Given the description of an element on the screen output the (x, y) to click on. 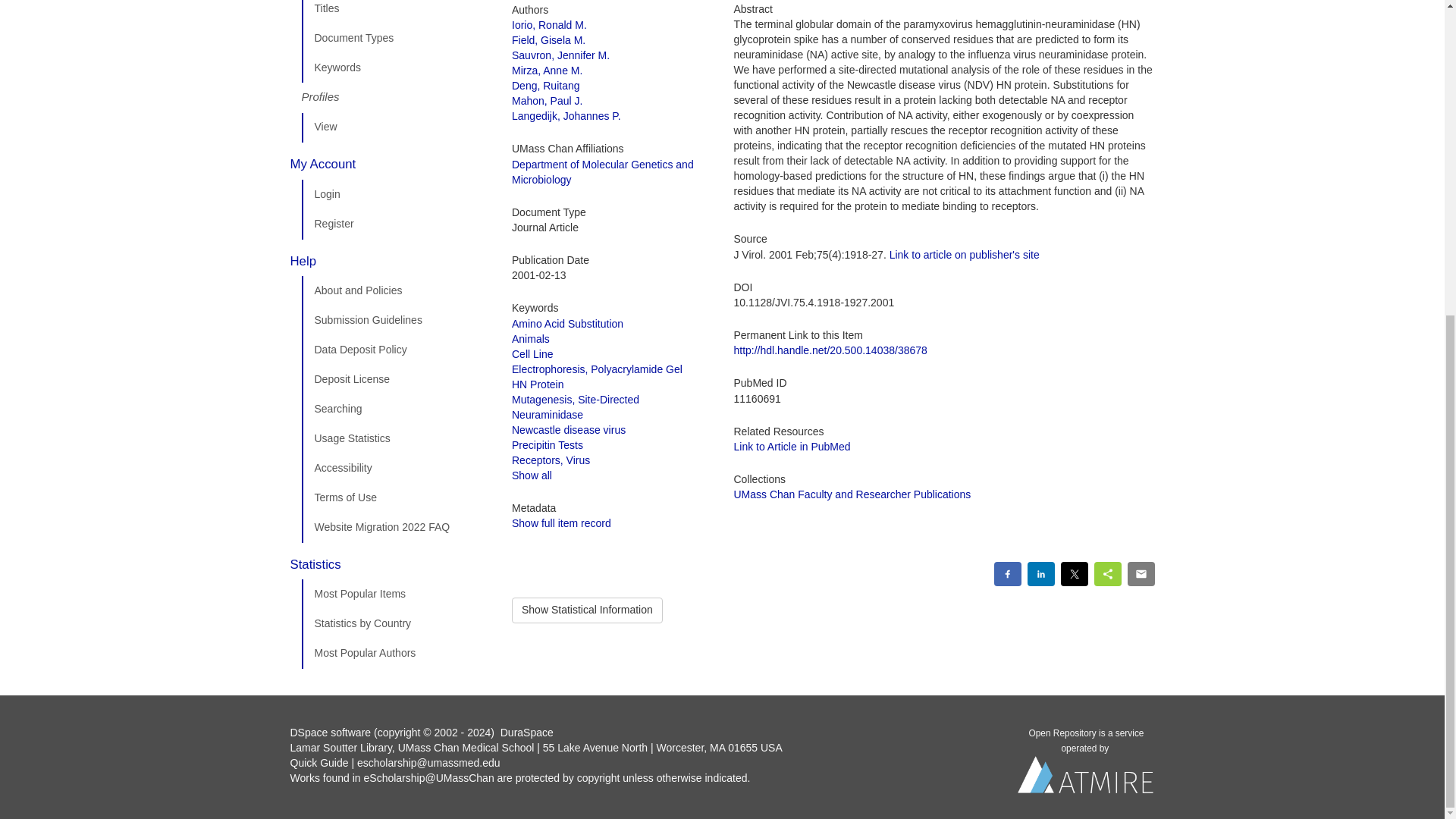
Data Deposit Policy (395, 349)
Document Types (395, 38)
Deposit License (395, 379)
Login (395, 194)
About and Policies (395, 291)
Searching (395, 409)
Accessibility (395, 468)
Profiles (395, 97)
Atmire NV (1085, 779)
Usage Statistics (395, 439)
Keywords (395, 68)
View (395, 127)
Register (395, 224)
Submission Guidelines (395, 320)
Titles (395, 12)
